Given the description of an element on the screen output the (x, y) to click on. 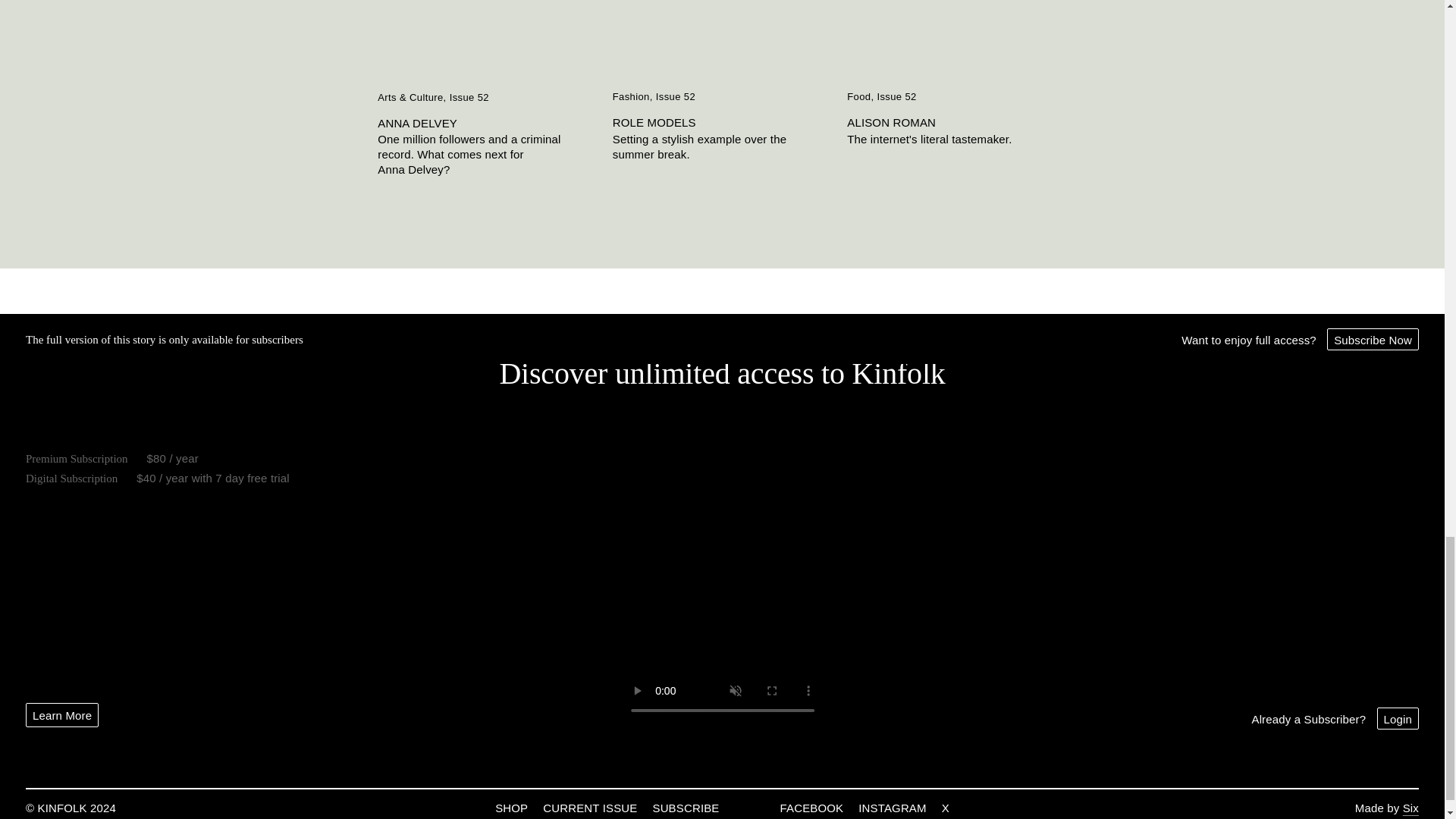
Issue 52 (895, 97)
ANNA DELVEY (486, 122)
Six (1410, 807)
Issue 52 (675, 97)
Learn More (62, 714)
Login (1397, 718)
Digital Subscription (71, 478)
X (945, 807)
Fashion,  (634, 97)
FACEBOOK (812, 807)
